Given the description of an element on the screen output the (x, y) to click on. 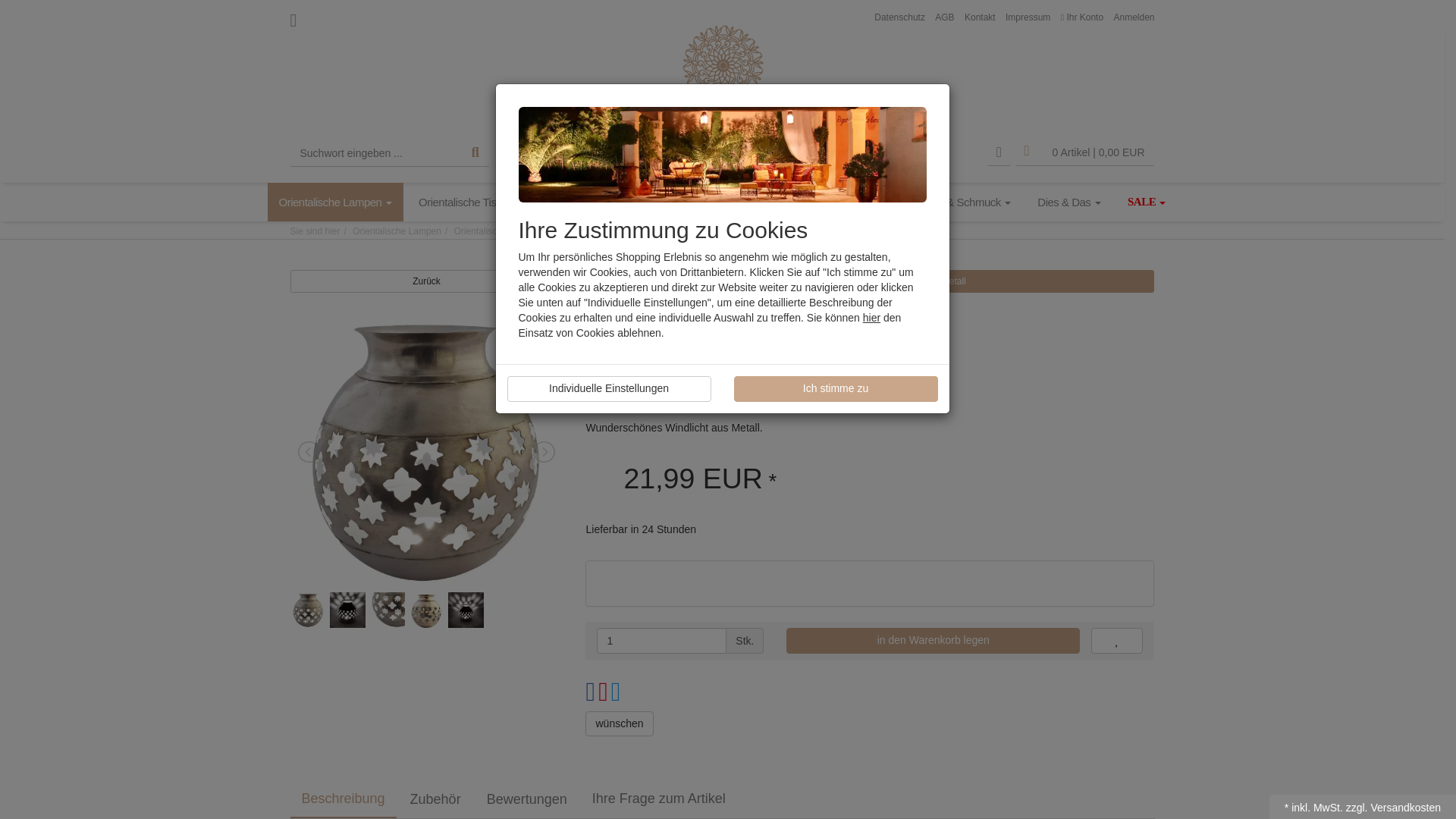
Impressum (1027, 17)
Ihr Konto (1082, 17)
Orientalische Tischkultur (480, 201)
Suchwort eingeben ... (375, 153)
suchen (475, 153)
Kontakt (979, 17)
Orientalische Tischkultur (480, 201)
1 (661, 640)
Datenschutz (899, 17)
AGB (943, 17)
Orientalische Lampen (334, 201)
Orientalische Lampen (334, 201)
zur Merkliste (999, 153)
Anmelden (1133, 17)
zur Kasse gehen (1084, 153)
